Given the description of an element on the screen output the (x, y) to click on. 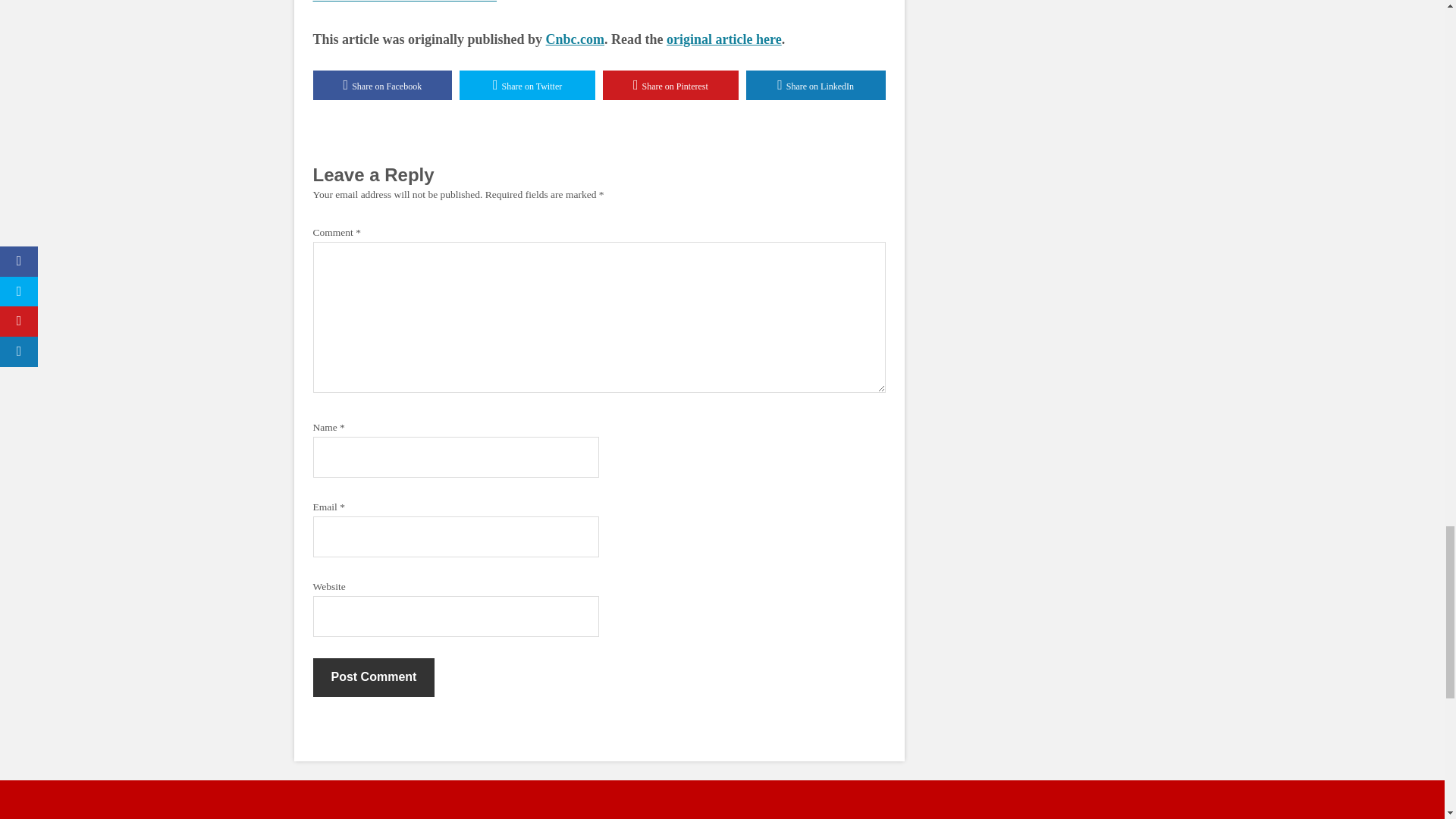
Post Comment (373, 677)
